Given the description of an element on the screen output the (x, y) to click on. 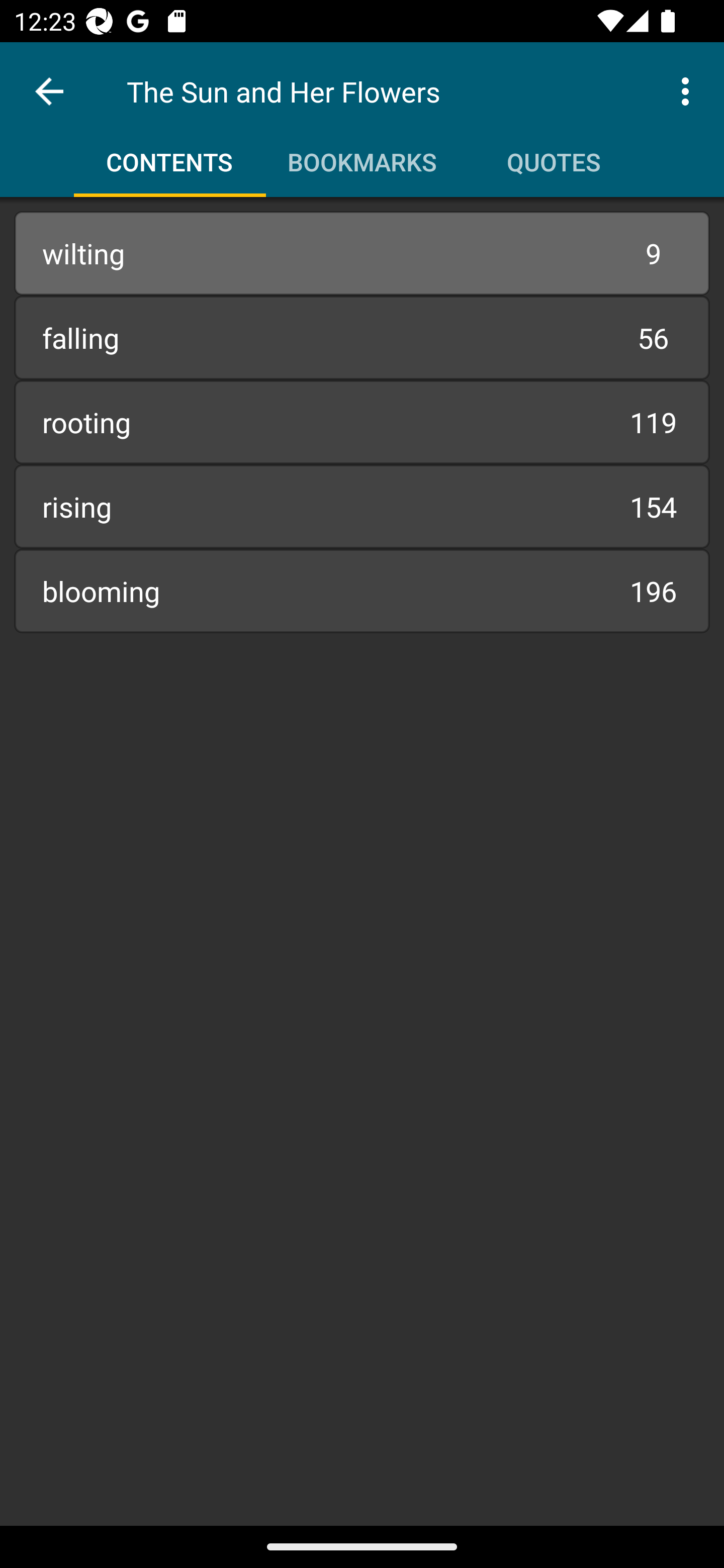
Back (49, 91)
More options (688, 90)
Bookmarks BOOKMARKS (361, 154)
Quotes QUOTES (554, 154)
wilting 9 (361, 252)
falling 56 (361, 336)
rooting 119 (361, 421)
rising 154 (361, 506)
blooming 196 (361, 590)
